Given the description of an element on the screen output the (x, y) to click on. 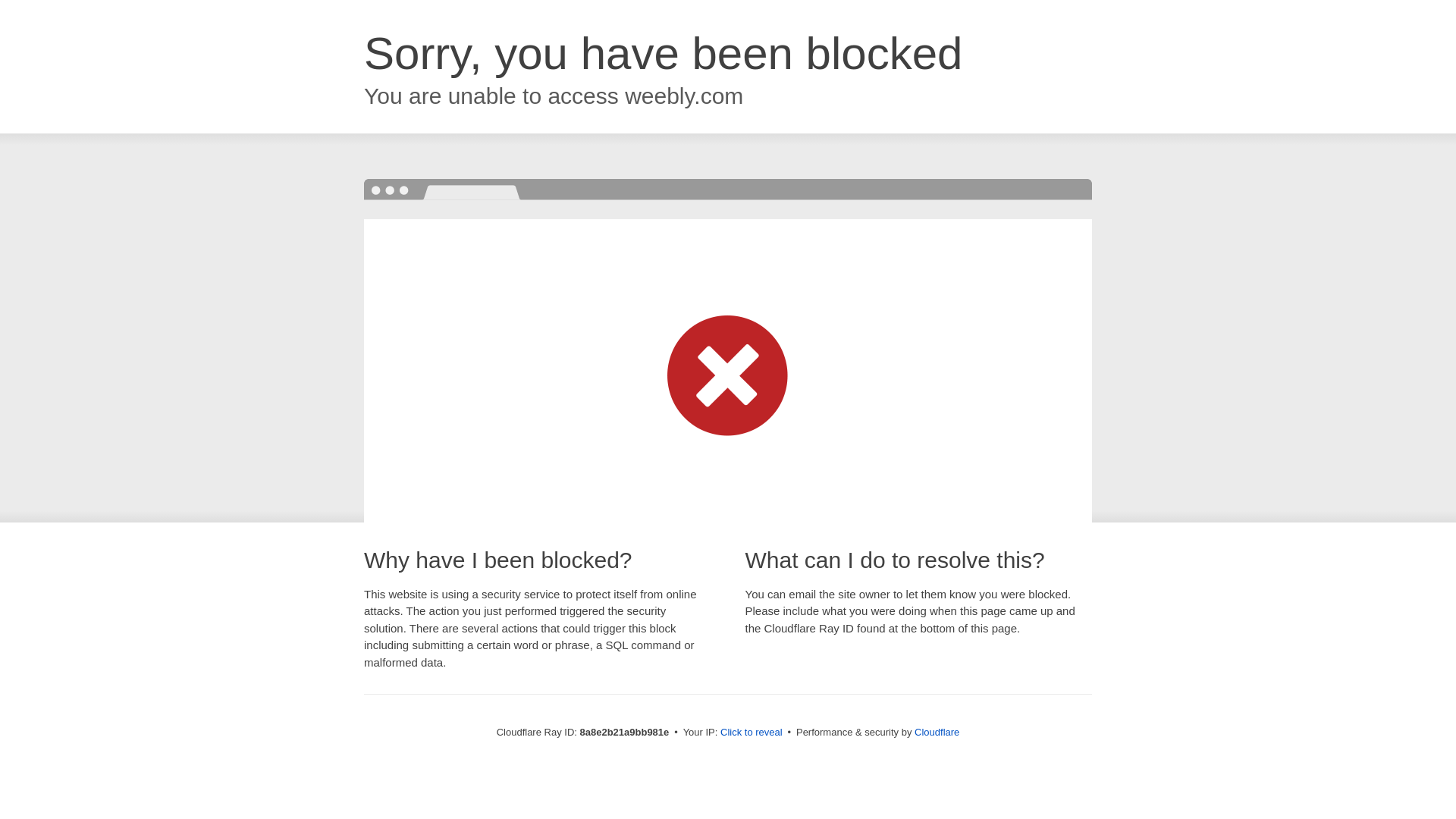
Cloudflare (936, 731)
Click to reveal (751, 732)
